Given the description of an element on the screen output the (x, y) to click on. 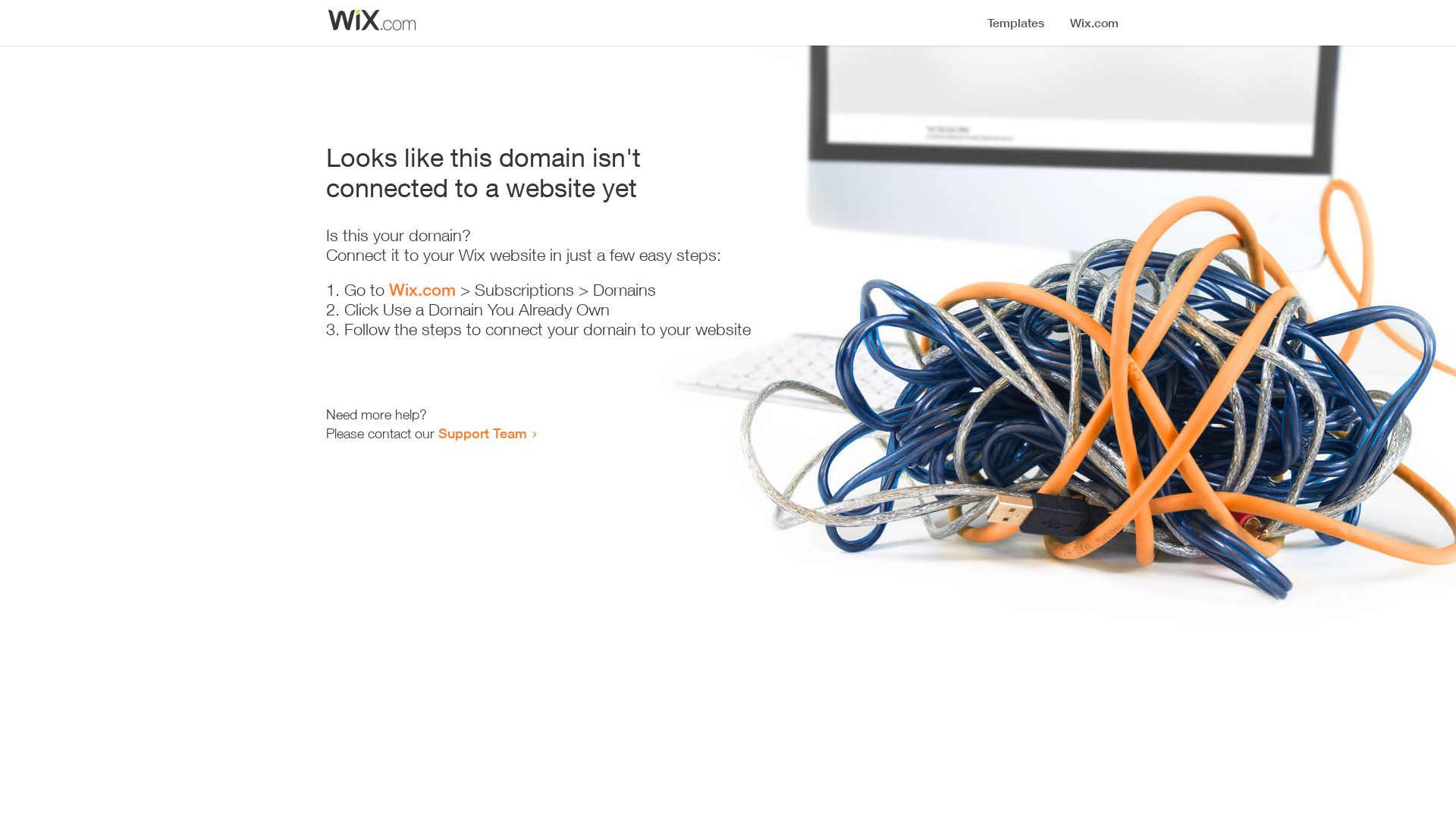
Support Team Element type: text (482, 432)
Wix.com Element type: text (422, 289)
